Given the description of an element on the screen output the (x, y) to click on. 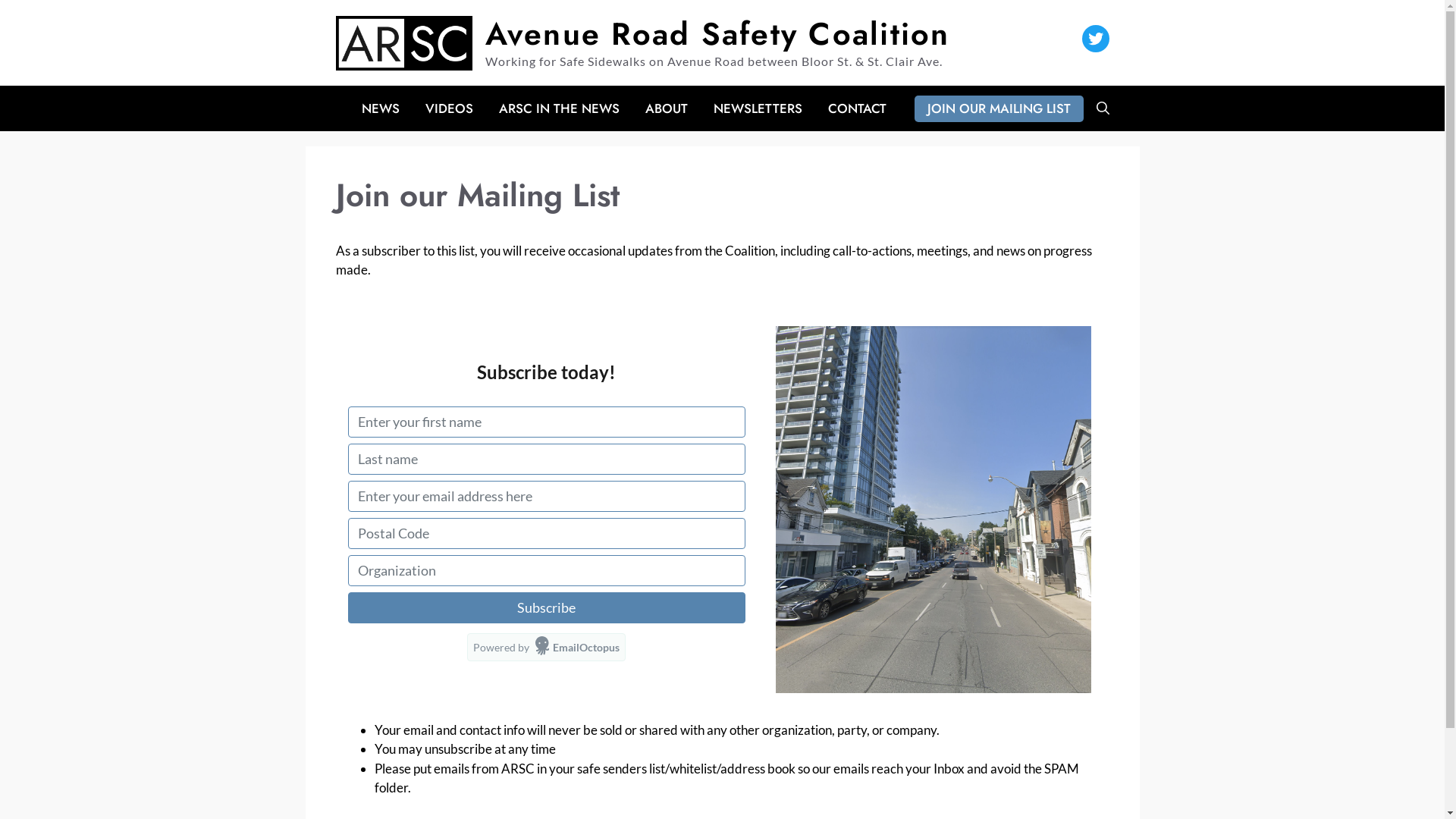
Avenue Road Safety Coalition Element type: text (717, 33)
JOIN OUR MAILING LIST Element type: text (998, 108)
CONTACT Element type: text (856, 108)
Subscribe Element type: text (545, 606)
VIDEOS Element type: text (449, 108)
Twitter Element type: text (1094, 38)
ARSC IN THE NEWS Element type: text (558, 108)
EmailOctopus Element type: text (577, 646)
NEWS Element type: text (380, 108)
NEWSLETTERS Element type: text (757, 108)
ABOUT Element type: text (666, 108)
